Given the description of an element on the screen output the (x, y) to click on. 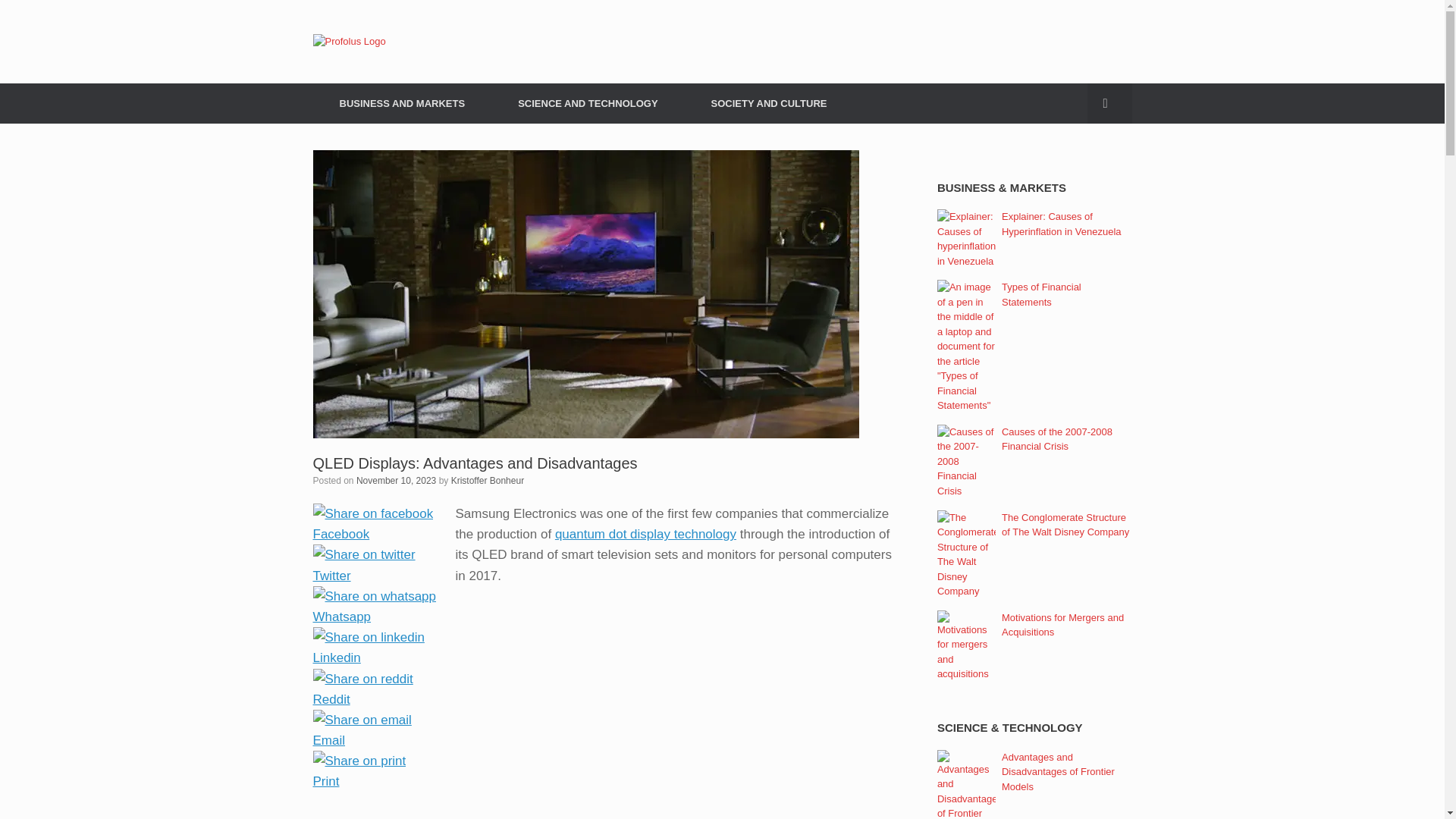
whatsapp (374, 596)
facebook (372, 513)
print (359, 761)
twitter (363, 554)
email (361, 720)
Explainer: Causes of Hyperinflation in Venezuela (1061, 223)
quantum dot display technology (645, 534)
Types of Financial Statements (1041, 294)
Reddit (374, 699)
Whatsapp (374, 616)
